Given the description of an element on the screen output the (x, y) to click on. 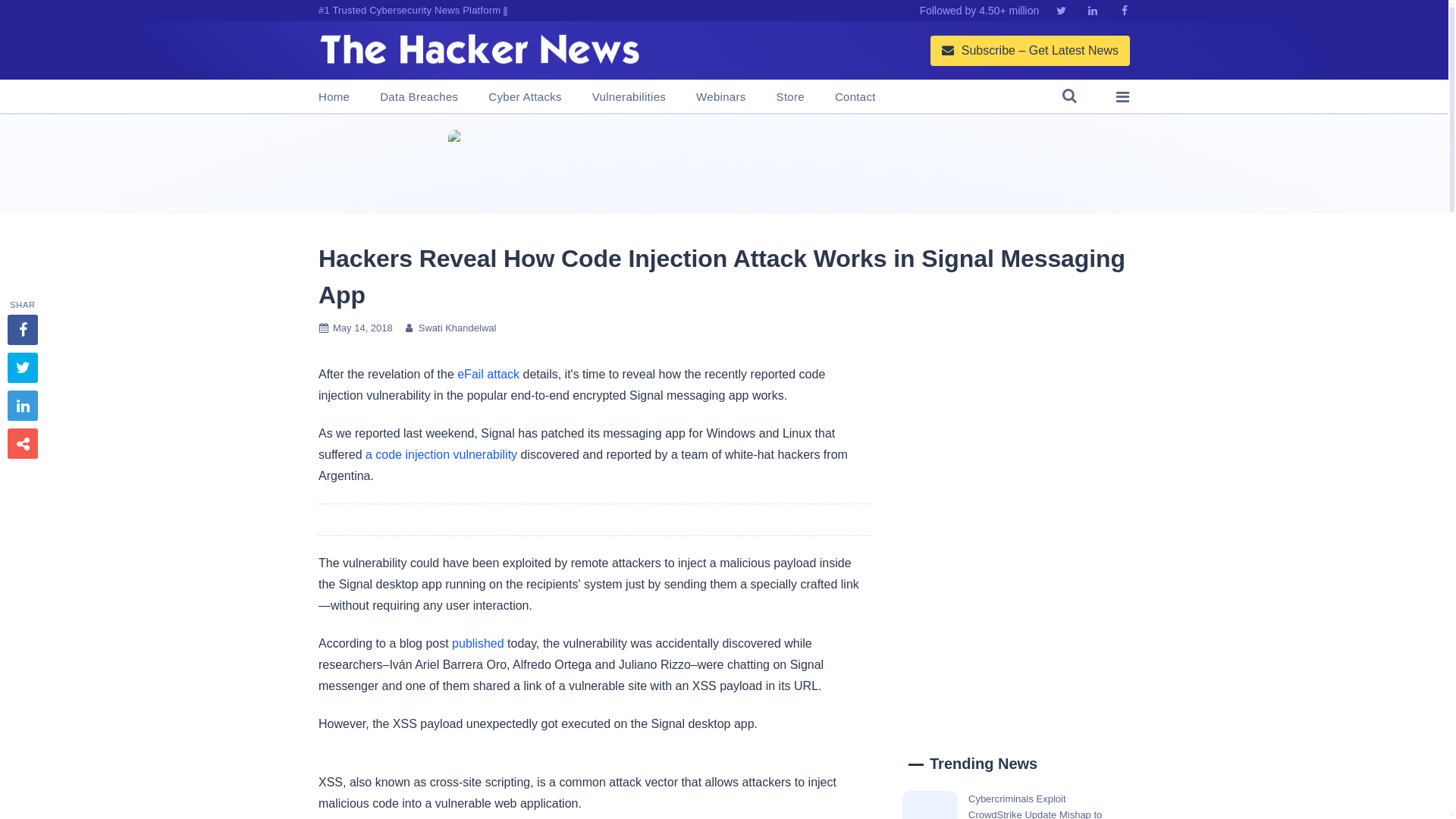
Contact (855, 96)
Cyber Attacks (523, 96)
Home (333, 96)
Vulnerabilities (628, 96)
Insider Risk Management (723, 164)
Store (790, 96)
eFail attack (488, 373)
Data Breaches (419, 96)
Webinars (720, 96)
published (477, 643)
